Given the description of an element on the screen output the (x, y) to click on. 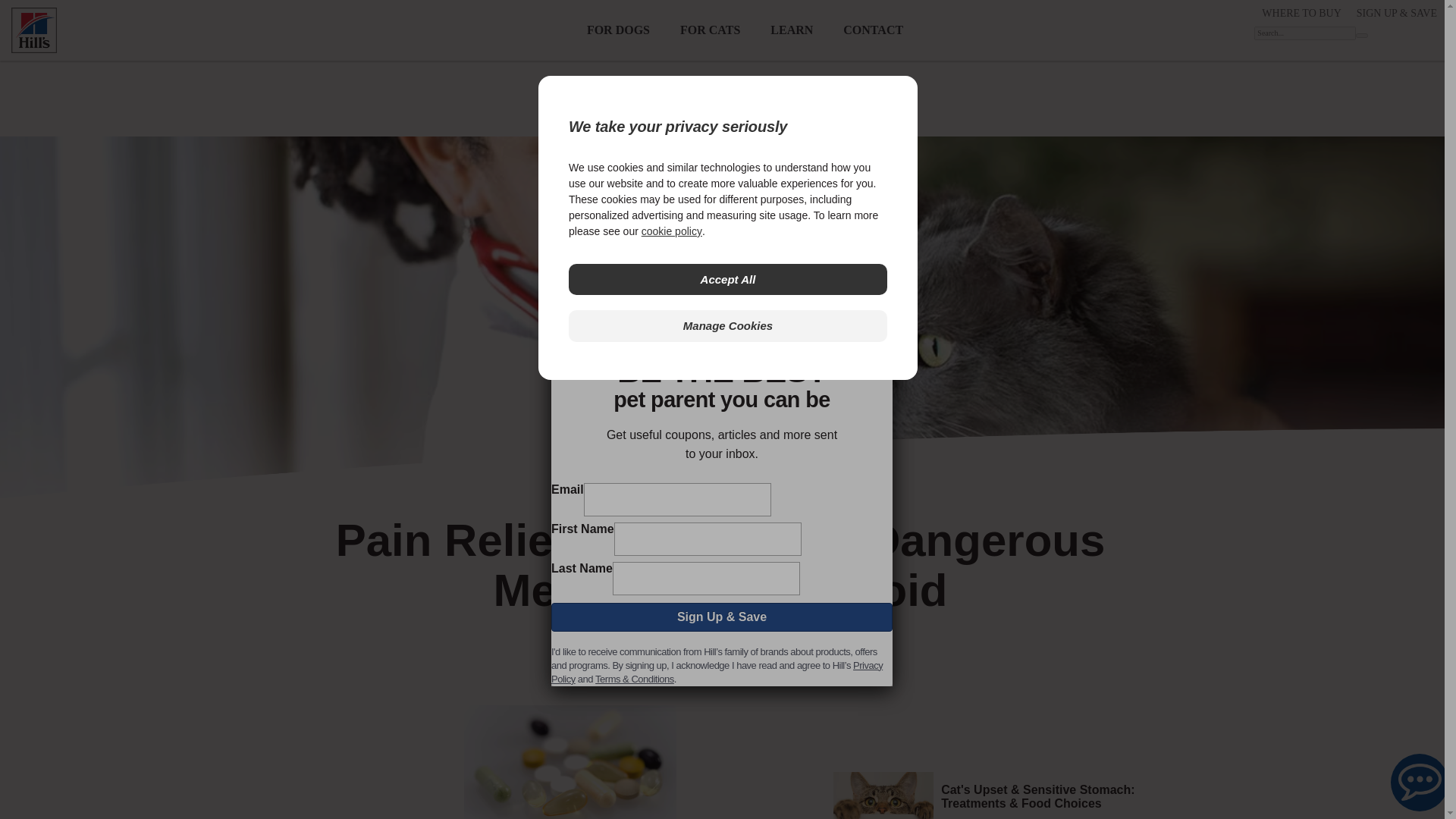
Manage Cookies (727, 325)
Hill's (33, 30)
cookie policy (671, 231)
Accept All (727, 278)
